Given the description of an element on the screen output the (x, y) to click on. 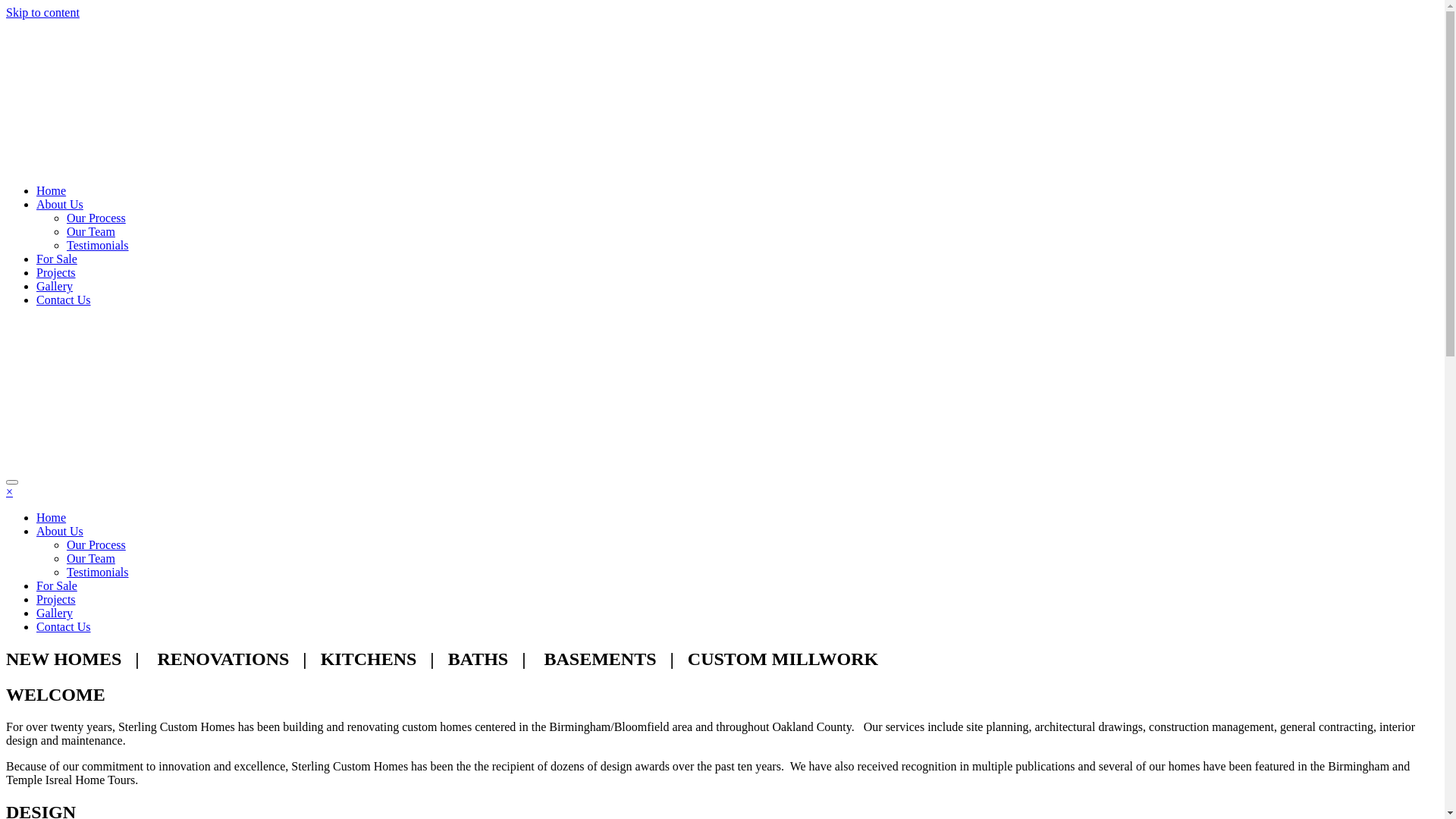
Gallery Element type: text (54, 285)
Testimonials Element type: text (97, 571)
Home Element type: text (50, 517)
Our Team Element type: text (90, 558)
Projects Element type: text (55, 272)
Logo-for-Embroidery-nobg Element type: hover (394, 393)
Projects Element type: text (55, 599)
Contact Us Element type: text (63, 299)
For Sale Element type: text (56, 258)
Skip to content Element type: text (42, 12)
Our Process Element type: text (95, 217)
About Us Element type: text (59, 203)
About Us Element type: text (59, 530)
Testimonials Element type: text (97, 244)
Logo-for-Embroidery-nobg Element type: hover (394, 94)
Home Element type: text (50, 190)
For Sale Element type: text (56, 585)
Our Process Element type: text (95, 544)
Our Team Element type: text (90, 231)
Gallery Element type: text (54, 612)
Contact Us Element type: text (63, 626)
